Given the description of an element on the screen output the (x, y) to click on. 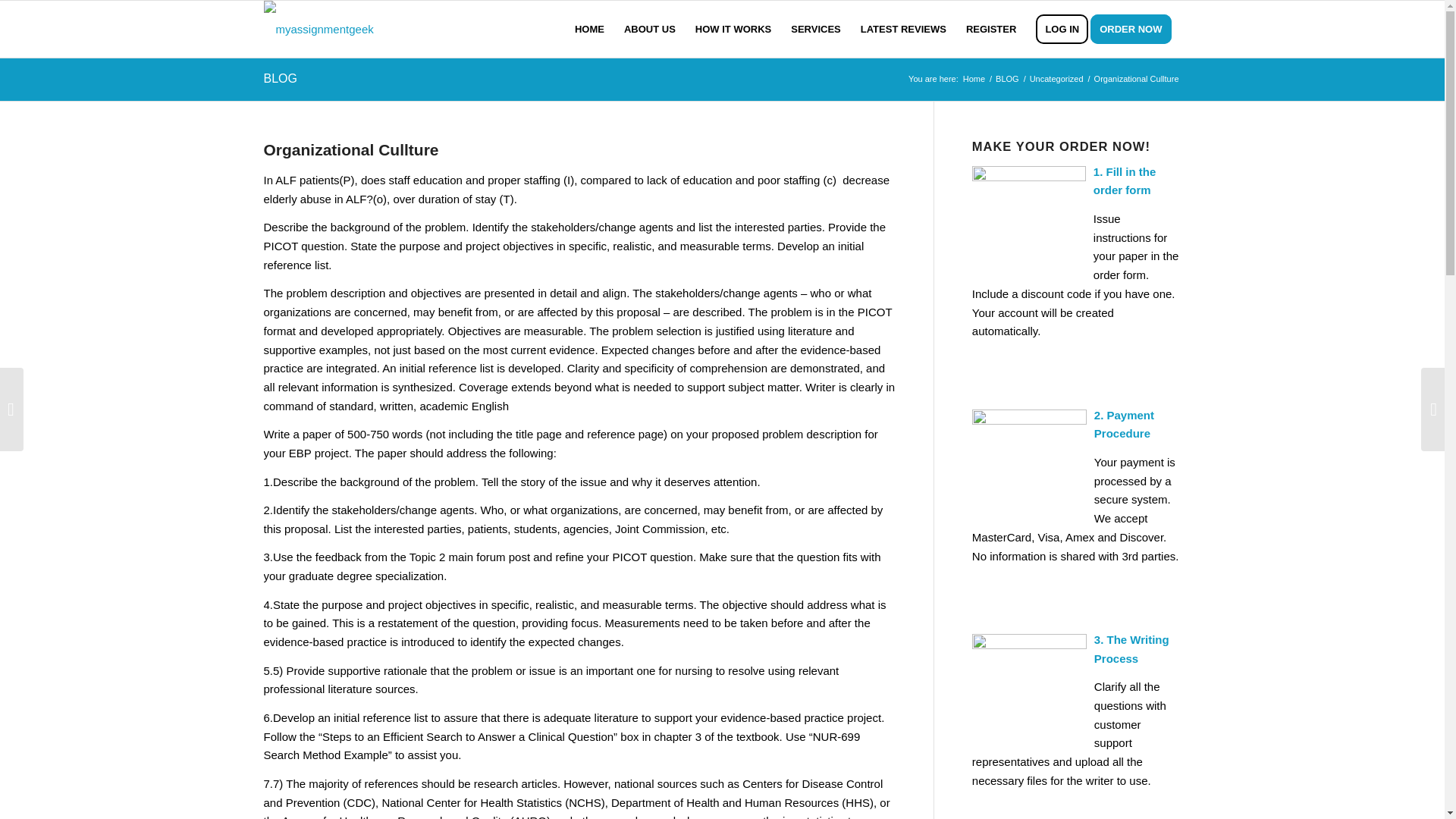
LATEST REVIEWS (903, 28)
REGISTER (991, 28)
LOG IN (1061, 28)
SERVICES (815, 28)
myassignmentgeek (973, 79)
Organizational Cullture (351, 149)
BLOG (1007, 79)
BLOG (1007, 79)
BLOG (280, 78)
Home (973, 79)
Permanent Link: Organizational Cullture (351, 149)
ORDER NOW (1135, 28)
Uncategorized (1056, 79)
HOME (589, 28)
ABOUT US (649, 28)
